Given the description of an element on the screen output the (x, y) to click on. 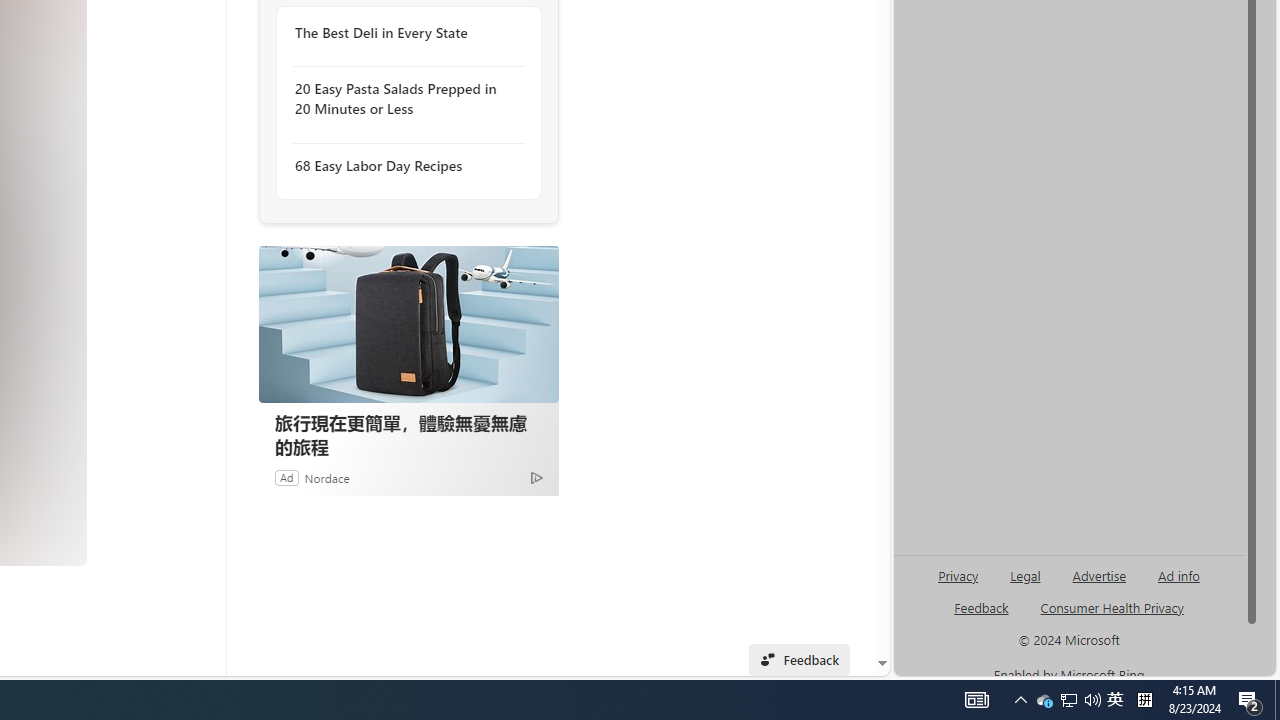
AutomationID: genId96 (981, 615)
The Best Deli in Every State (403, 33)
68 Easy Labor Day Recipes (403, 164)
AutomationID: sb_feedback (980, 607)
20 Easy Pasta Salads Prepped in 20 Minutes or Less (403, 99)
